Given the description of an element on the screen output the (x, y) to click on. 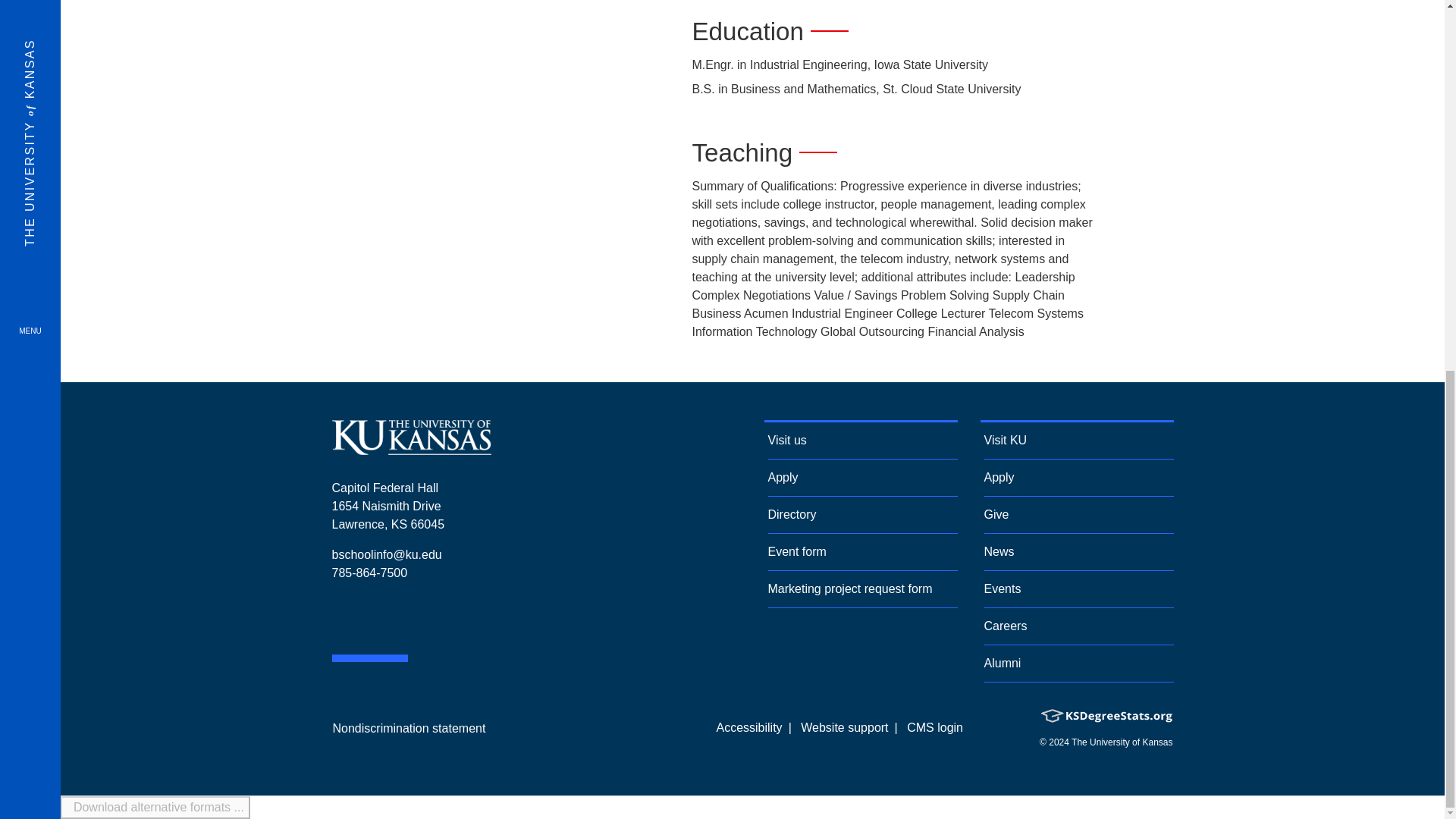
Linkedin (30, 72)
Twitter (432, 618)
Facebook (384, 618)
The University of Kansas (337, 618)
Instagram (411, 448)
Youtube (360, 618)
